Given the description of an element on the screen output the (x, y) to click on. 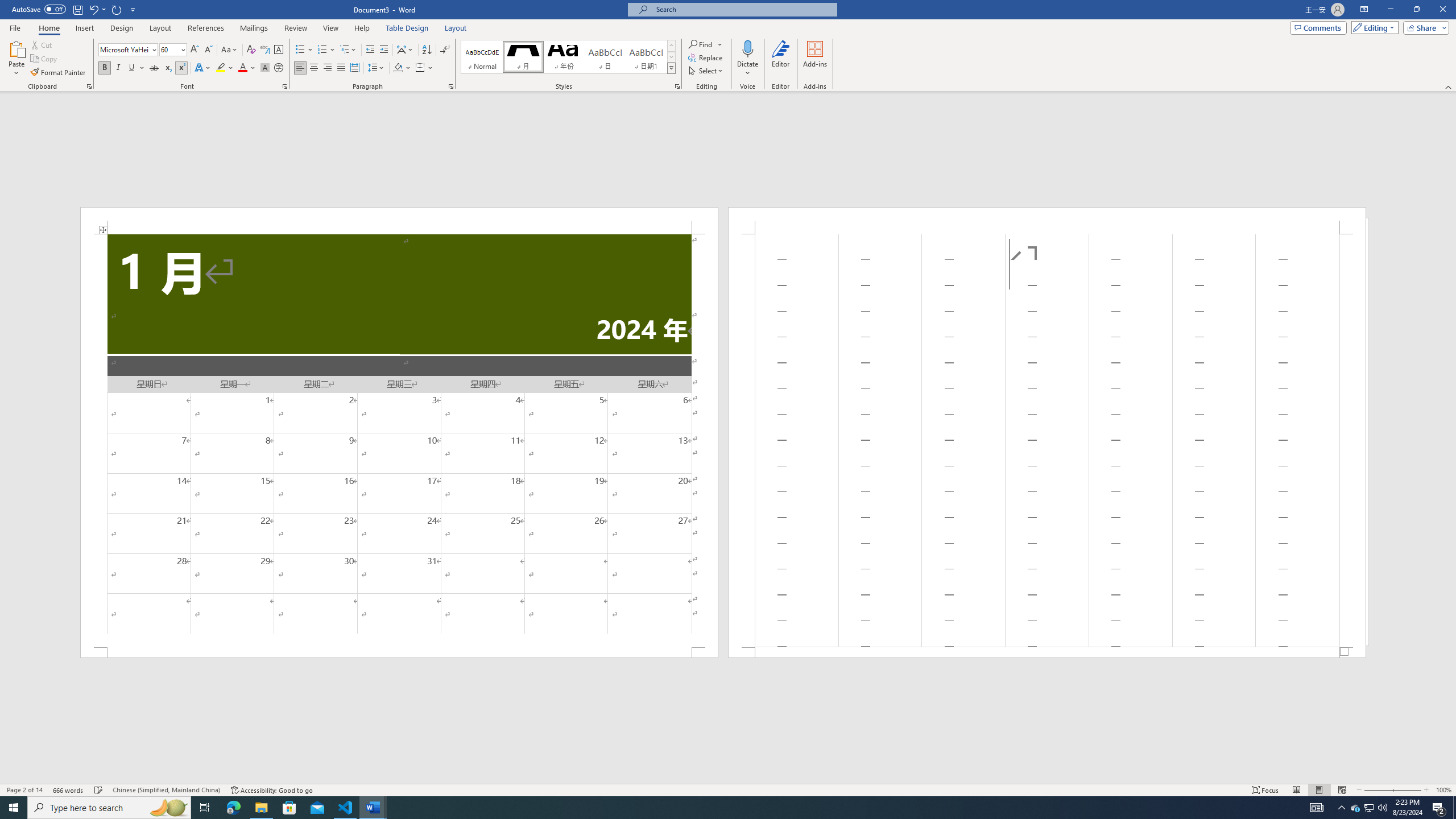
Increase Indent (383, 49)
Design (122, 28)
Bold (104, 67)
Open (182, 49)
Enclose Characters... (278, 67)
Align Left (300, 67)
Class: NetUIImage (671, 68)
Clear Formatting (250, 49)
Language Chinese (Simplified, Mainland China) (165, 790)
Character Border (278, 49)
Focus  (1265, 790)
Save (77, 9)
Select (705, 69)
Underline (136, 67)
